Given the description of an element on the screen output the (x, y) to click on. 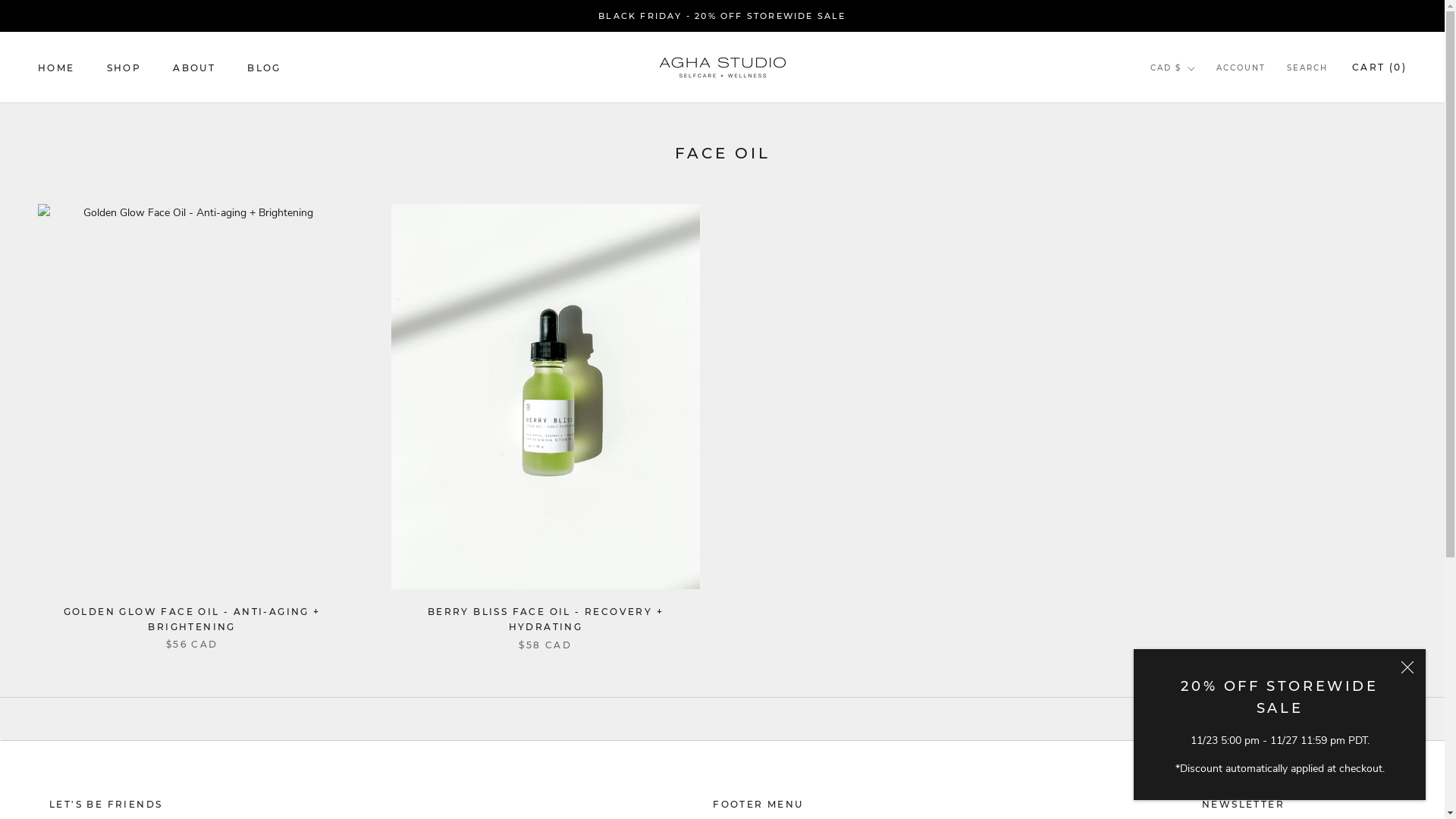
SORT Element type: text (1386, 718)
HOME
HOME Element type: text (56, 67)
USD Element type: text (1190, 119)
SEARCH Element type: text (1306, 68)
CAD Element type: text (1190, 100)
CAD $ Element type: text (1172, 68)
SHOP
SHOP Element type: text (123, 67)
CART (0) Element type: text (1379, 66)
ACCOUNT Element type: text (1240, 68)
BLOG
BLOG Element type: text (264, 67)
BERRY BLISS FACE OIL - RECOVERY + HYDRATING Element type: text (545, 618)
ABOUT
ABOUT Element type: text (193, 67)
GOLDEN GLOW FACE OIL - ANTI-AGING + BRIGHTENING Element type: text (191, 618)
